Given the description of an element on the screen output the (x, y) to click on. 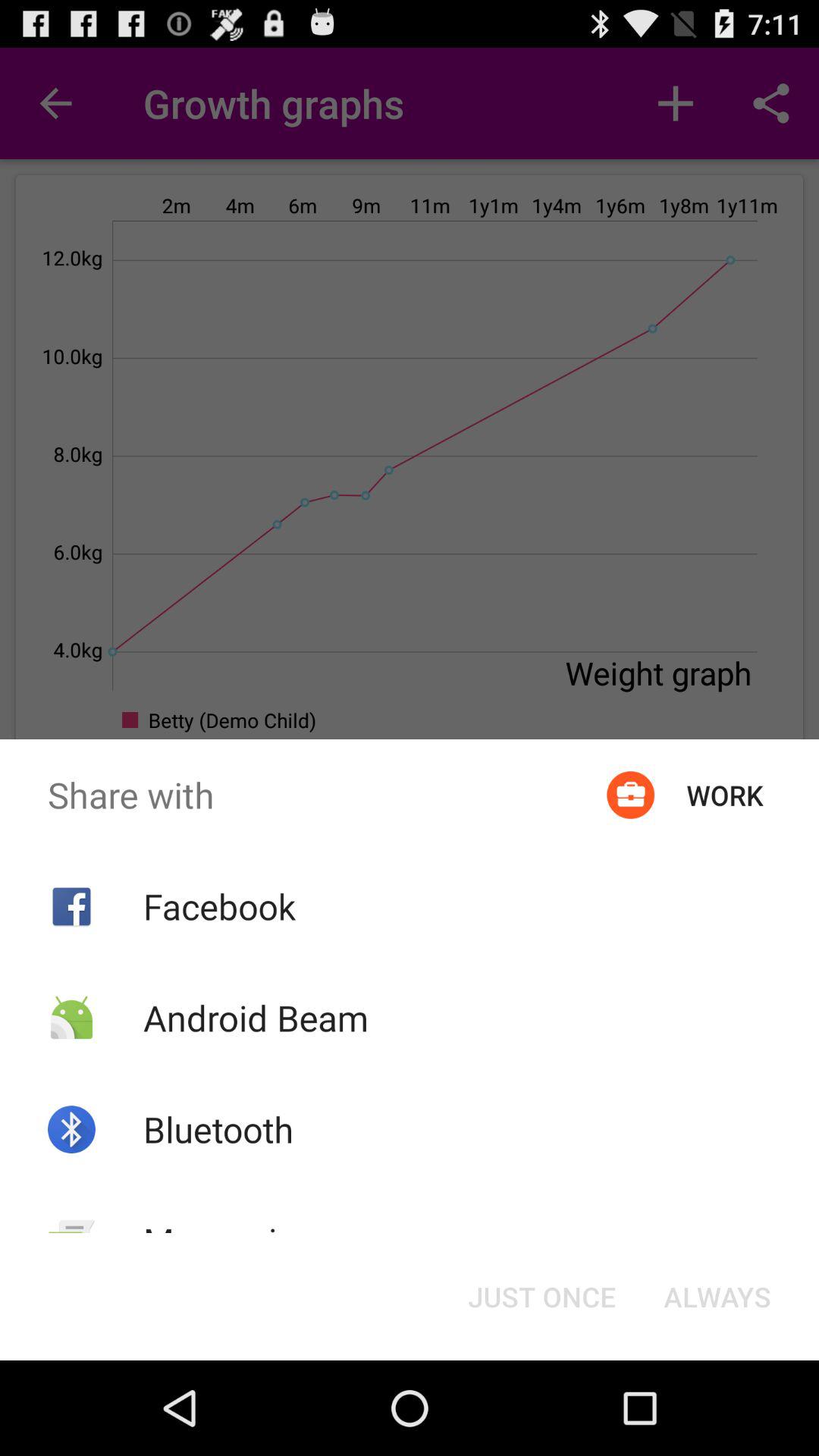
open just once item (541, 1296)
